Given the description of an element on the screen output the (x, y) to click on. 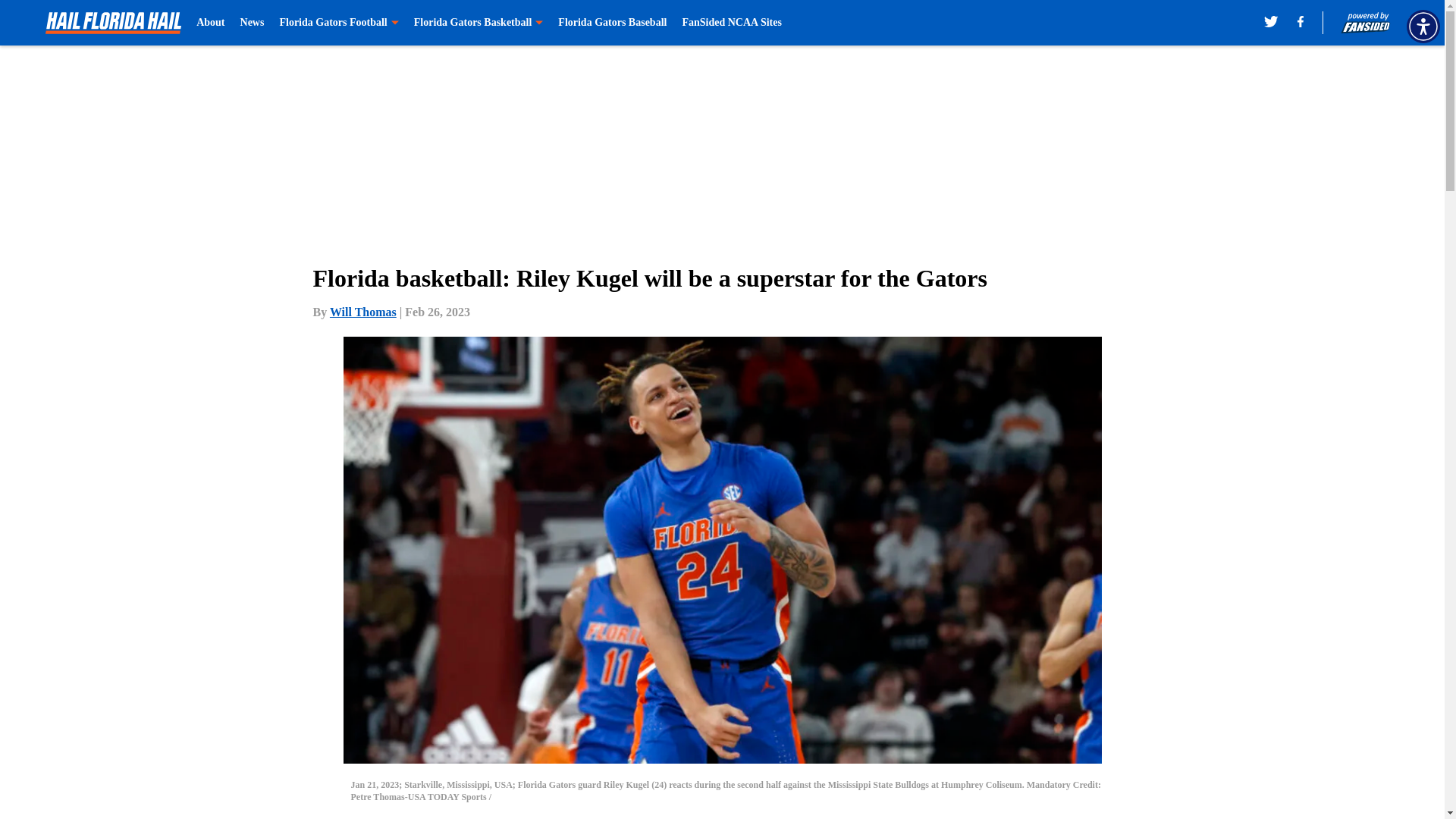
About (210, 22)
News (252, 22)
FanSided NCAA Sites (730, 22)
Will Thomas (363, 311)
Florida Gators Baseball (611, 22)
Accessibility Menu (1422, 26)
